Given the description of an element on the screen output the (x, y) to click on. 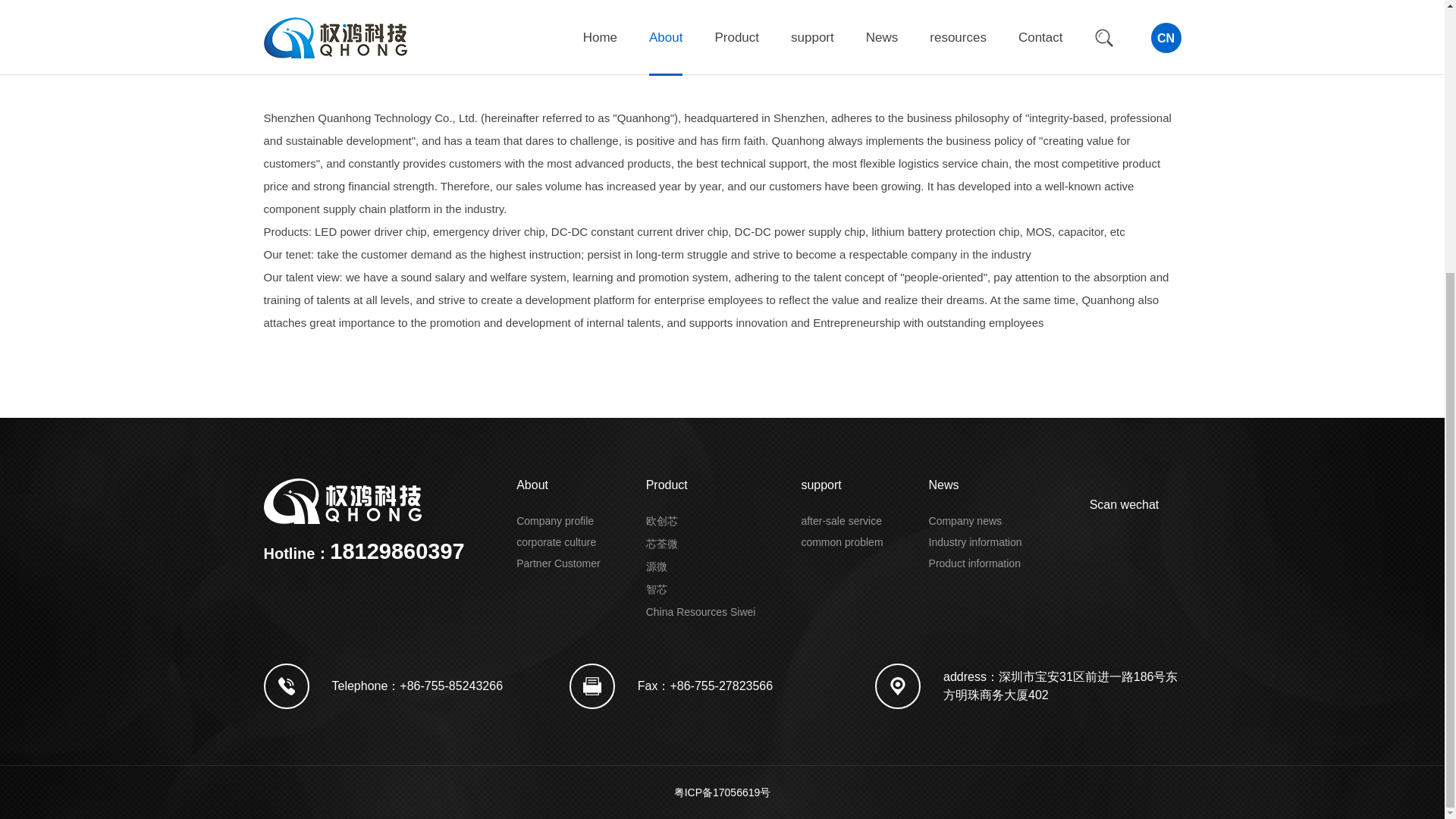
corporate culture (433, 22)
Cooperative customers (577, 22)
common problem (841, 541)
Product information (974, 563)
Company news (965, 521)
China Resources Siwei (700, 612)
after-sale service (841, 521)
corporate culture (555, 541)
Partner Customer (557, 563)
Company profile (307, 22)
